Given the description of an element on the screen output the (x, y) to click on. 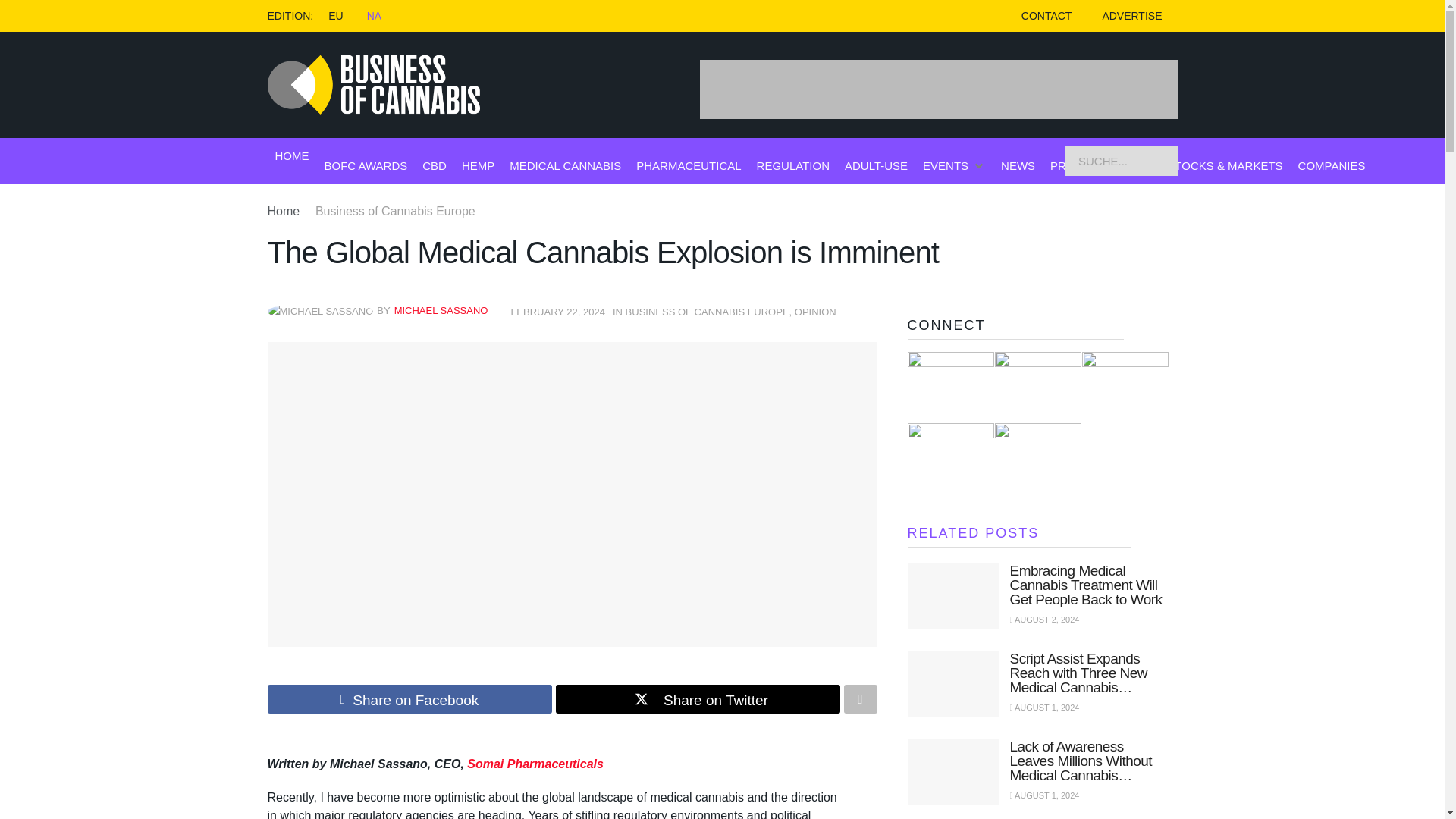
BOFC AWARDS (365, 165)
HEMP (478, 165)
Business of Cannabis Europe (395, 210)
BUSINESS OF CANNABIS EUROPE (707, 311)
CBD (434, 165)
EVENTS (945, 165)
Share on Facebook (408, 698)
PHARMACEUTICAL (688, 165)
PRESS RELEASES (1100, 165)
OPINION (814, 311)
REGULATION (793, 165)
Share on Twitter (697, 698)
ADVERTISE (1131, 15)
COMPANIES (1331, 165)
ADULT-USE (875, 165)
